Given the description of an element on the screen output the (x, y) to click on. 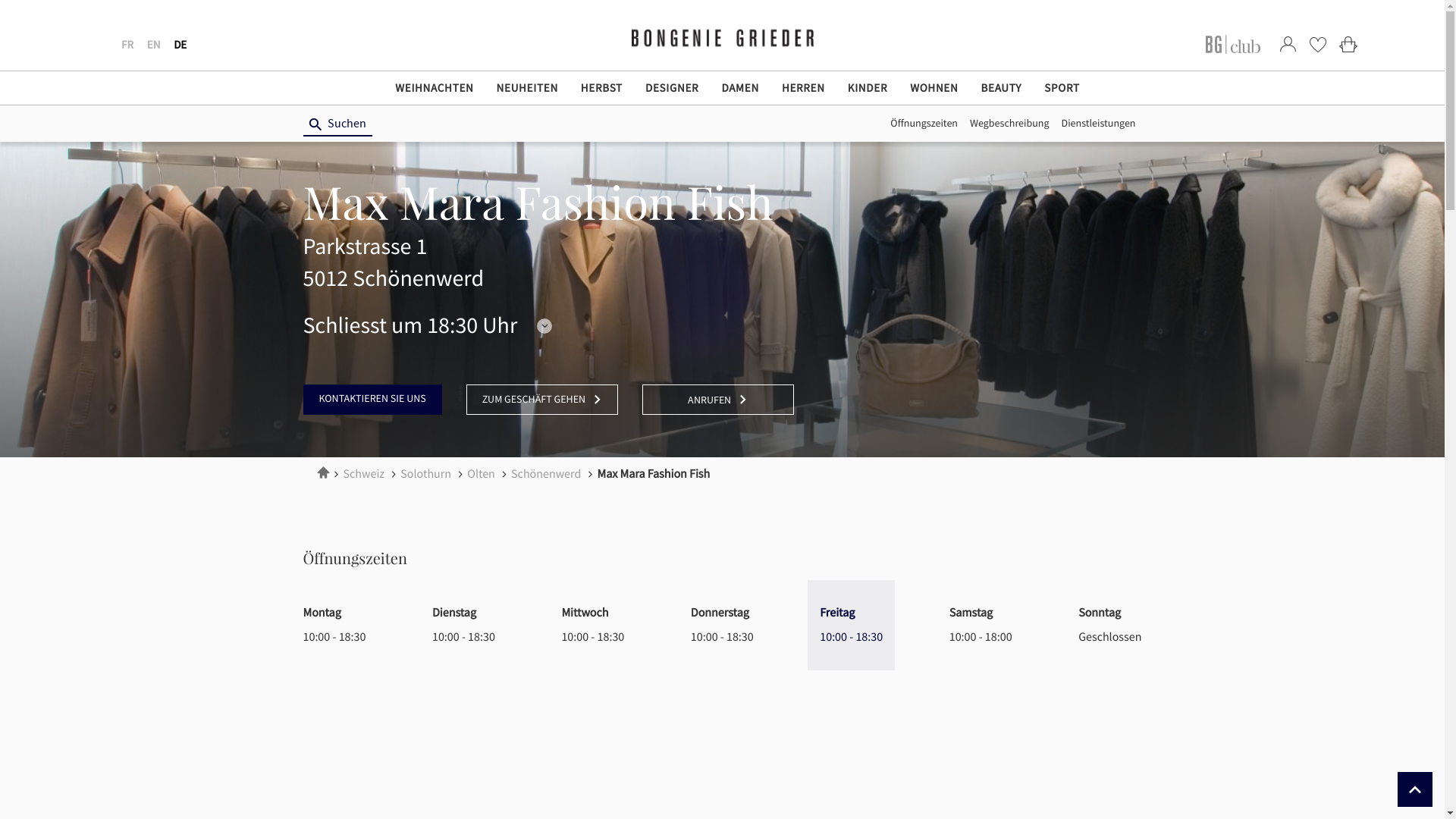
Suchen Element type: text (337, 123)
SPORT Element type: text (1061, 87)
Solothurn Element type: text (426, 473)
KINDER Element type: text (867, 87)
HERREN Element type: text (803, 87)
DESIGNER Element type: text (671, 87)
DE Element type: text (179, 43)
ANRUFEN
DER MAX MARA FASHION FISH-STORE Element type: text (717, 399)
Dienstleistungen Element type: text (1098, 125)
Wegbeschreibung Element type: text (1009, 125)
FR Element type: text (127, 43)
Mes Favoris Element type: hover (1317, 43)
Startseite Element type: text (322, 473)
DAMEN Element type: text (739, 87)
HERBST Element type: text (601, 87)
KONTAKTIEREN SIE UNS Element type: text (372, 399)
WOHNEN Element type: text (933, 87)
EN Element type: text (153, 43)
BEAUTY Element type: text (1000, 87)
Mon compte Element type: hover (1287, 43)
Schweiz Element type: text (364, 473)
Olten Element type: text (482, 473)
WEIHNACHTEN Element type: text (433, 87)
NEUHEITEN Element type: text (527, 87)
